Given the description of an element on the screen output the (x, y) to click on. 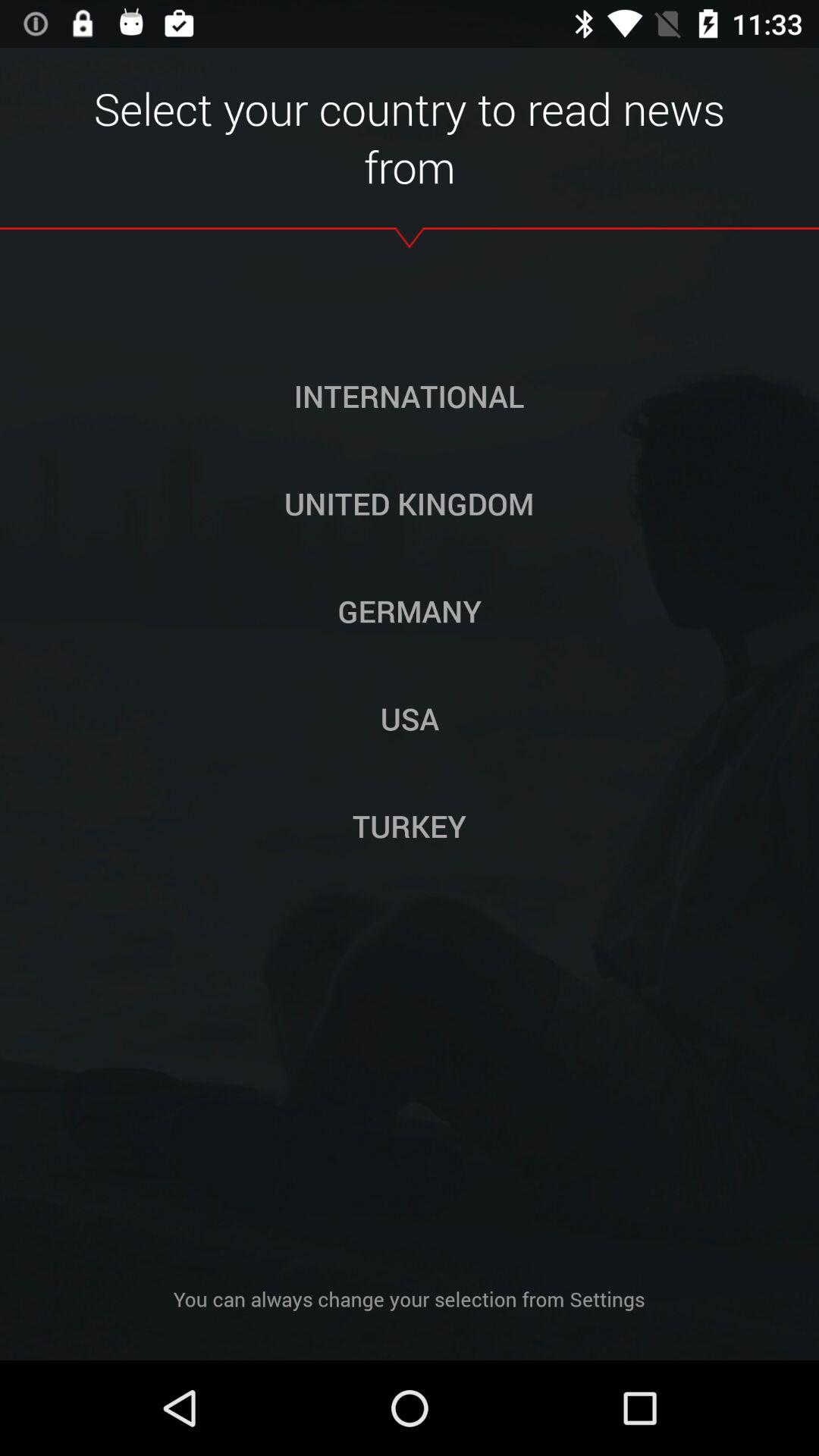
click icon above turkey item (409, 718)
